Given the description of an element on the screen output the (x, y) to click on. 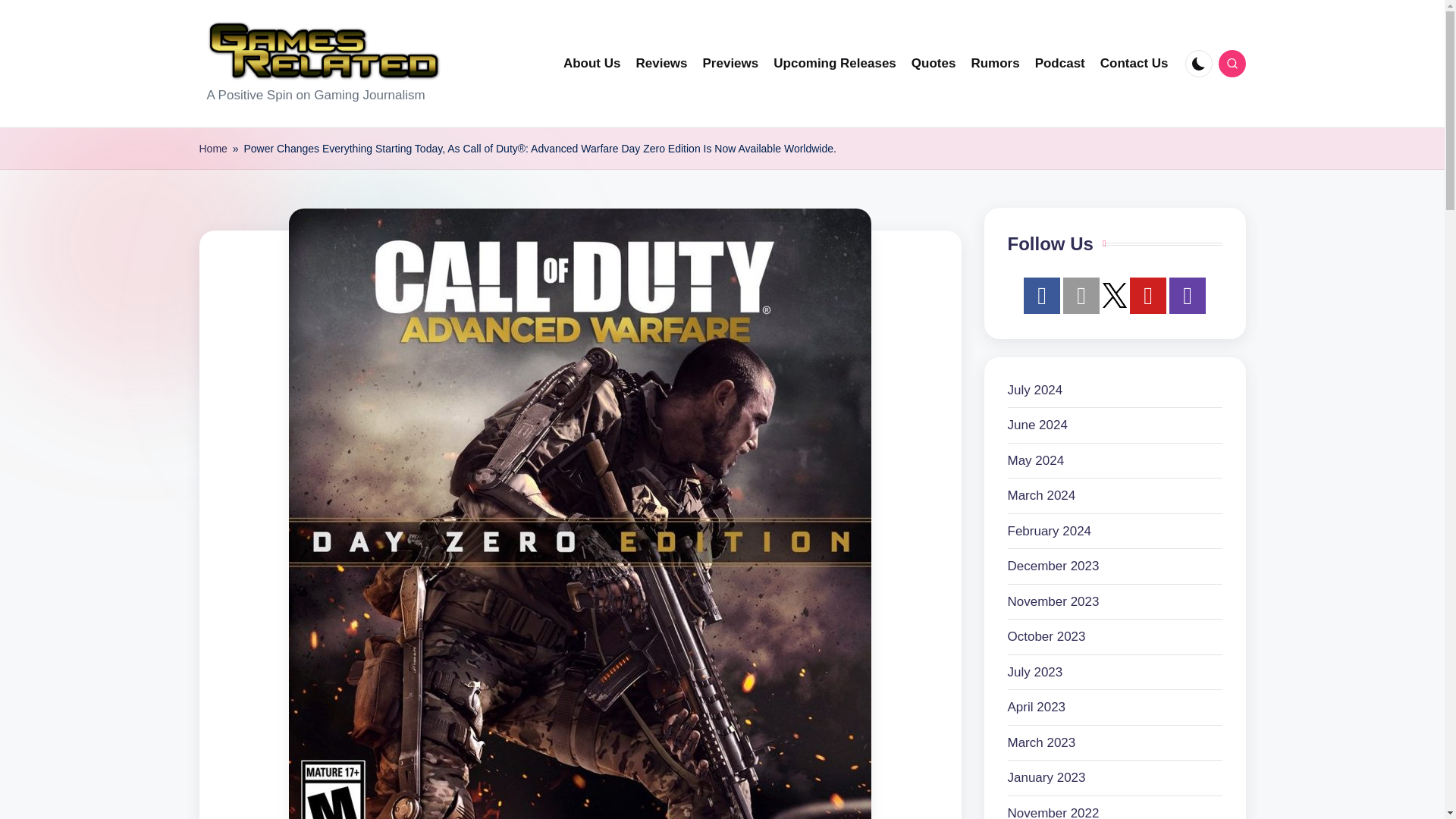
February 2024 (1048, 531)
Follow-us-on-X (1114, 294)
join-us-on-twitch (1187, 295)
Upcoming Releases (834, 63)
join-us-on-discord (1080, 295)
May 2024 (1035, 460)
follow-us-on-facebook (1041, 295)
Quotes (933, 63)
About Us (592, 63)
Home (212, 148)
December 2023 (1053, 566)
October 2023 (1045, 637)
Contact Us (1134, 63)
July 2023 (1034, 672)
March 2023 (1041, 742)
